Given the description of an element on the screen output the (x, y) to click on. 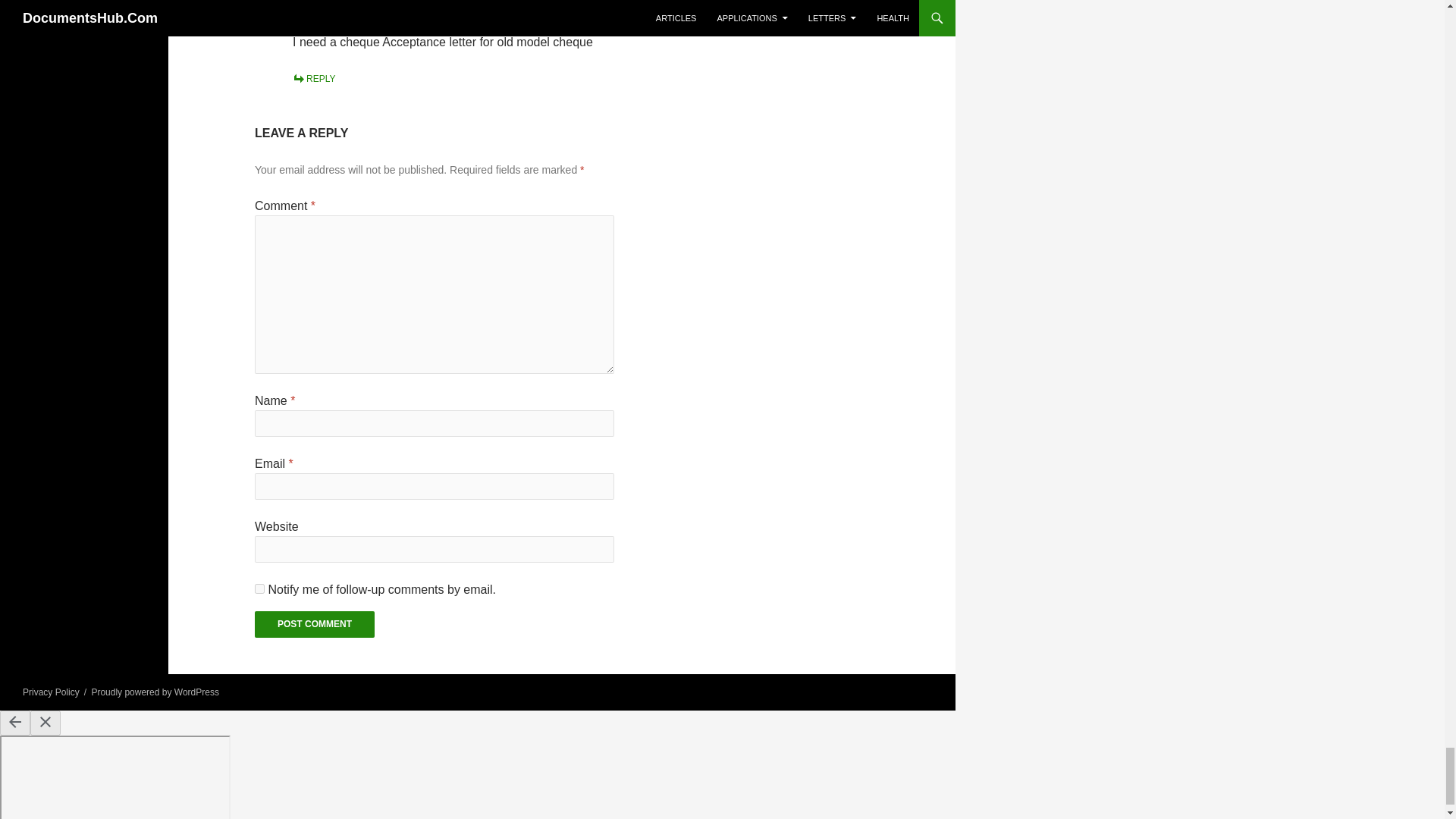
subscribe (259, 588)
Post Comment (314, 624)
